Given the description of an element on the screen output the (x, y) to click on. 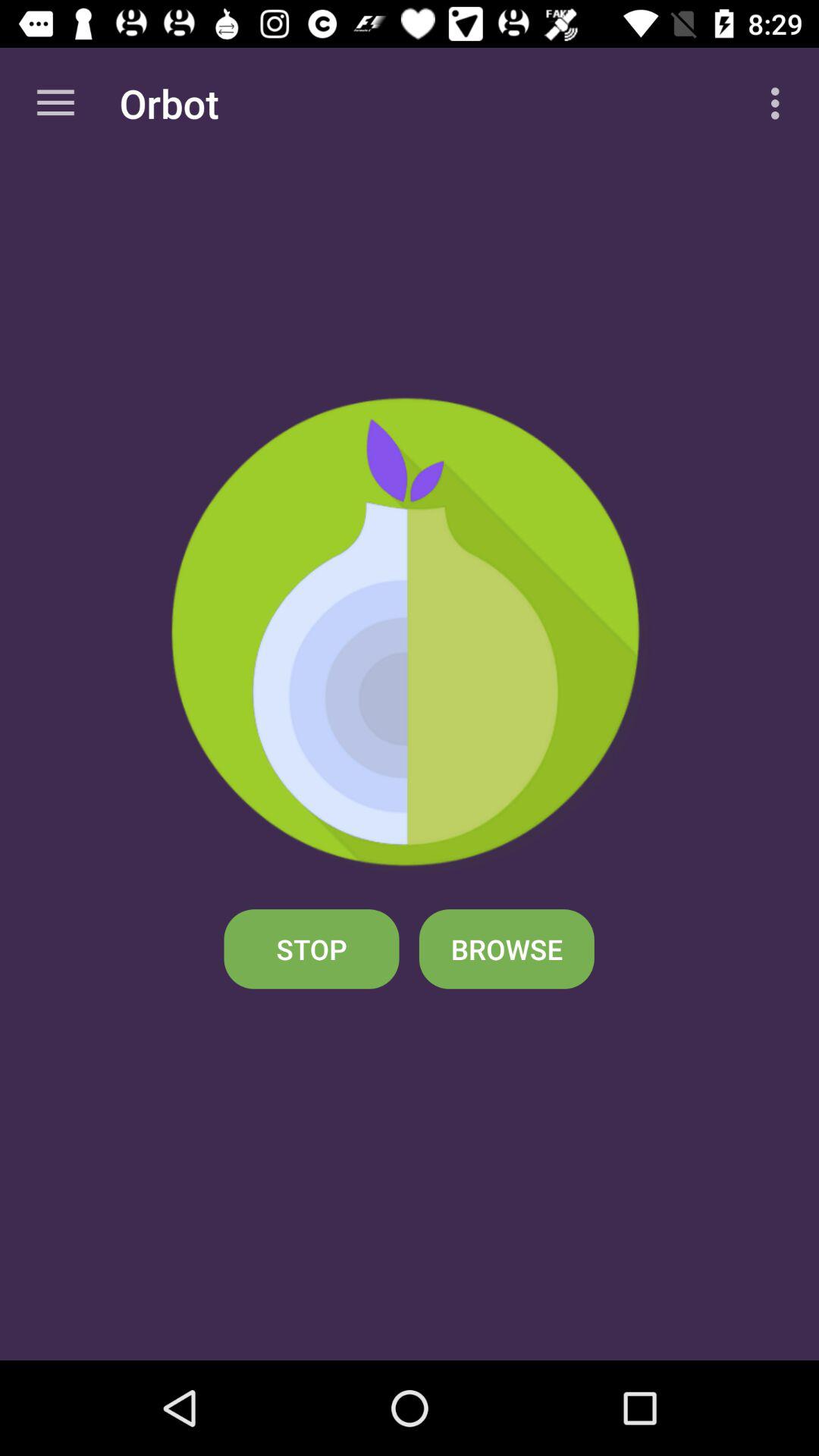
swipe to browse icon (506, 949)
